Given the description of an element on the screen output the (x, y) to click on. 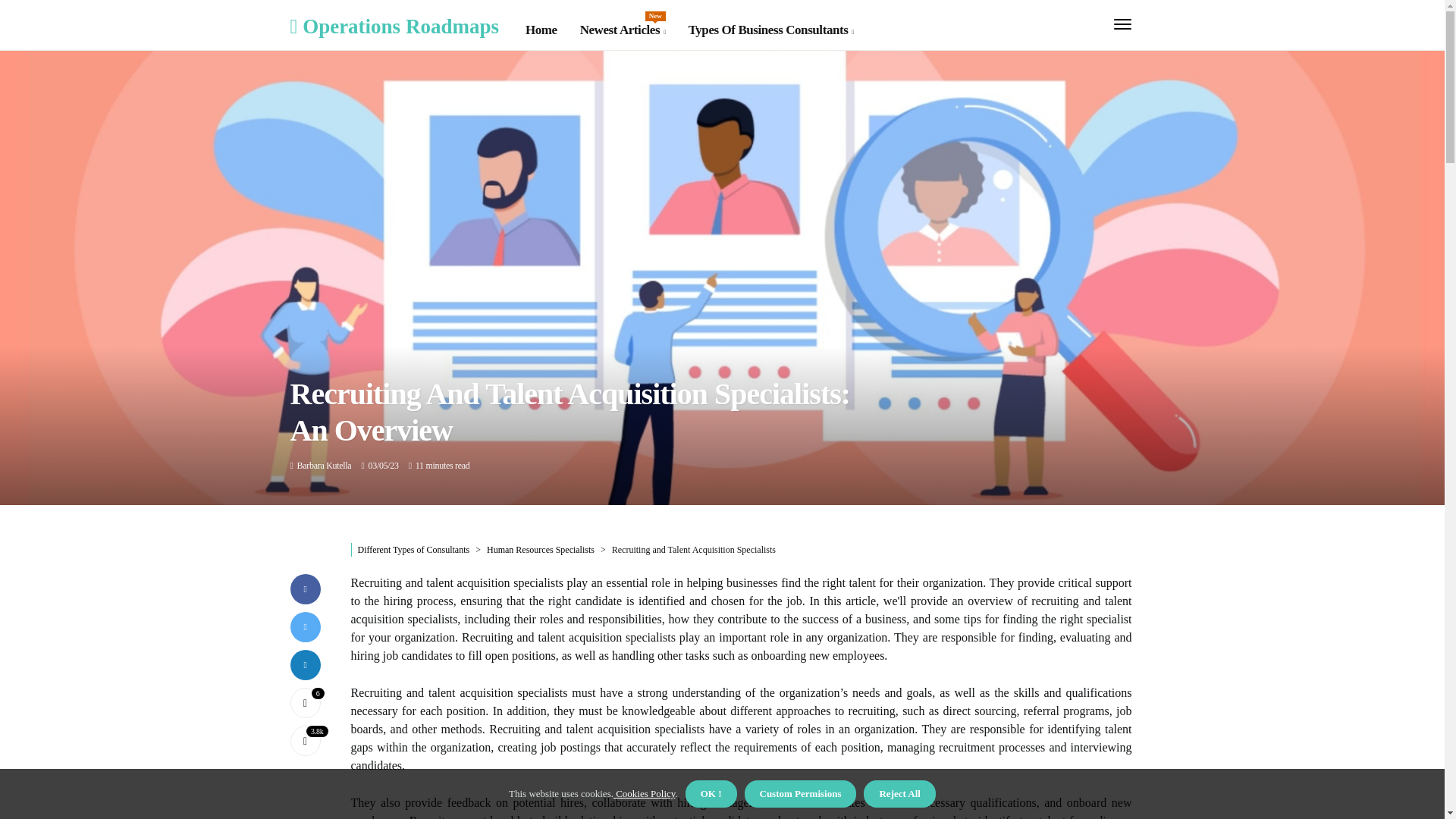
Operations Roadmaps (393, 26)
Types Of Business Consultants (622, 30)
Posts by Barbara Kutella (770, 30)
Like (324, 465)
